Given the description of an element on the screen output the (x, y) to click on. 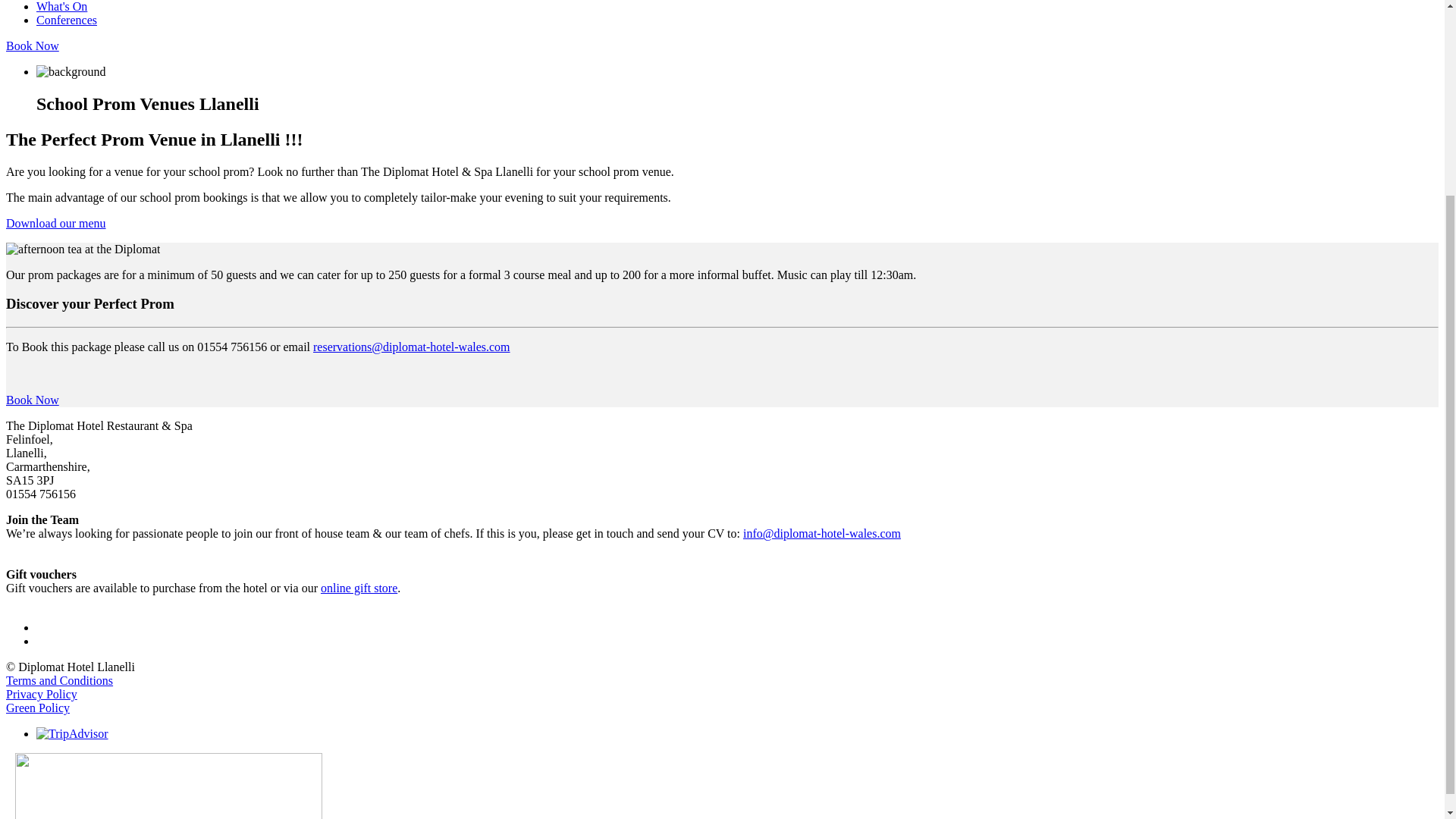
Book Now (32, 399)
Conferences (66, 19)
online gift store (358, 587)
Terms and Conditions (59, 680)
Download our menu (55, 223)
What's On (61, 6)
Book Now (32, 45)
Green Policy (37, 707)
Privacy Policy (41, 694)
